Given the description of an element on the screen output the (x, y) to click on. 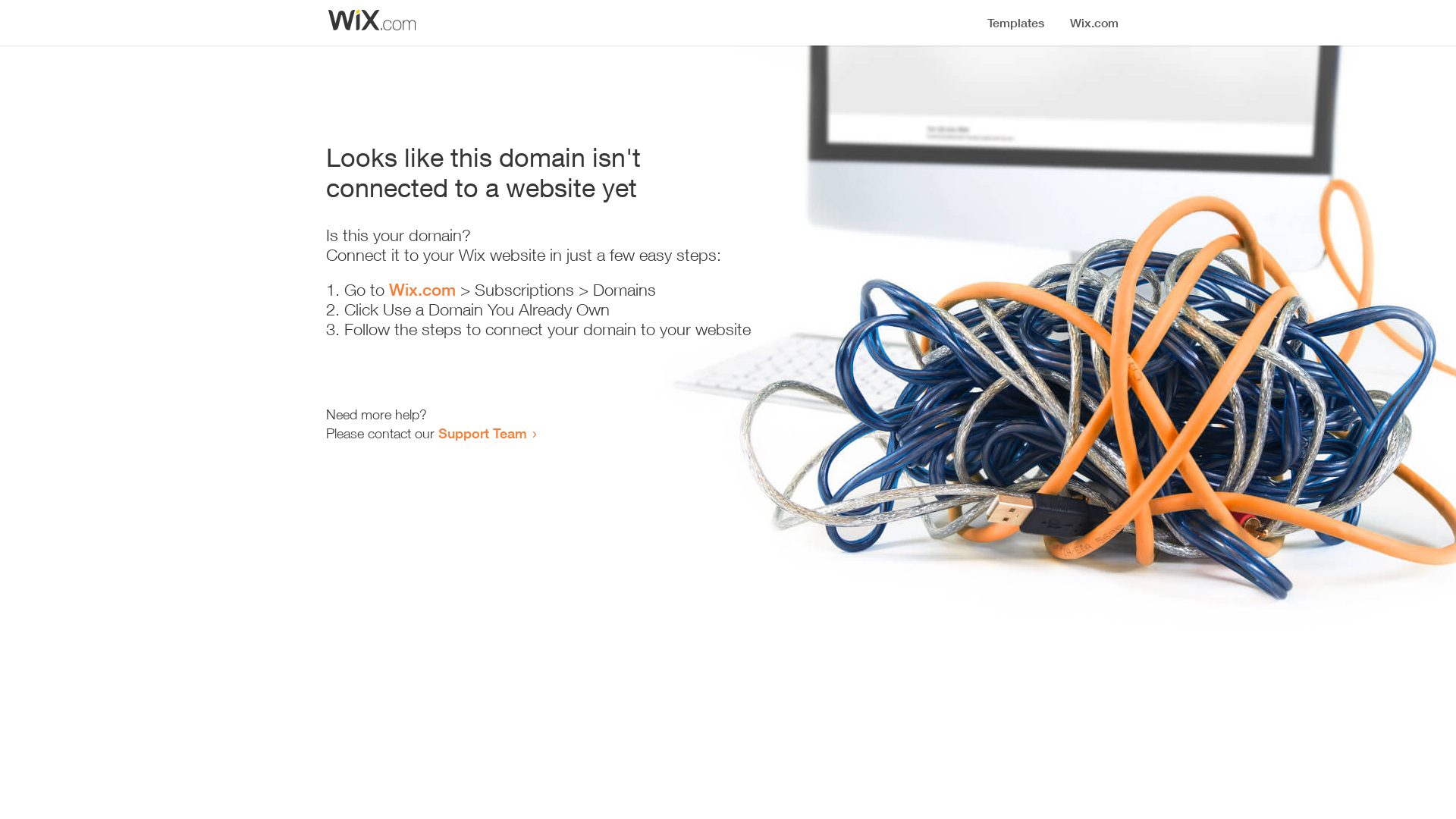
Support Team Element type: text (482, 432)
Wix.com Element type: text (422, 289)
